Given the description of an element on the screen output the (x, y) to click on. 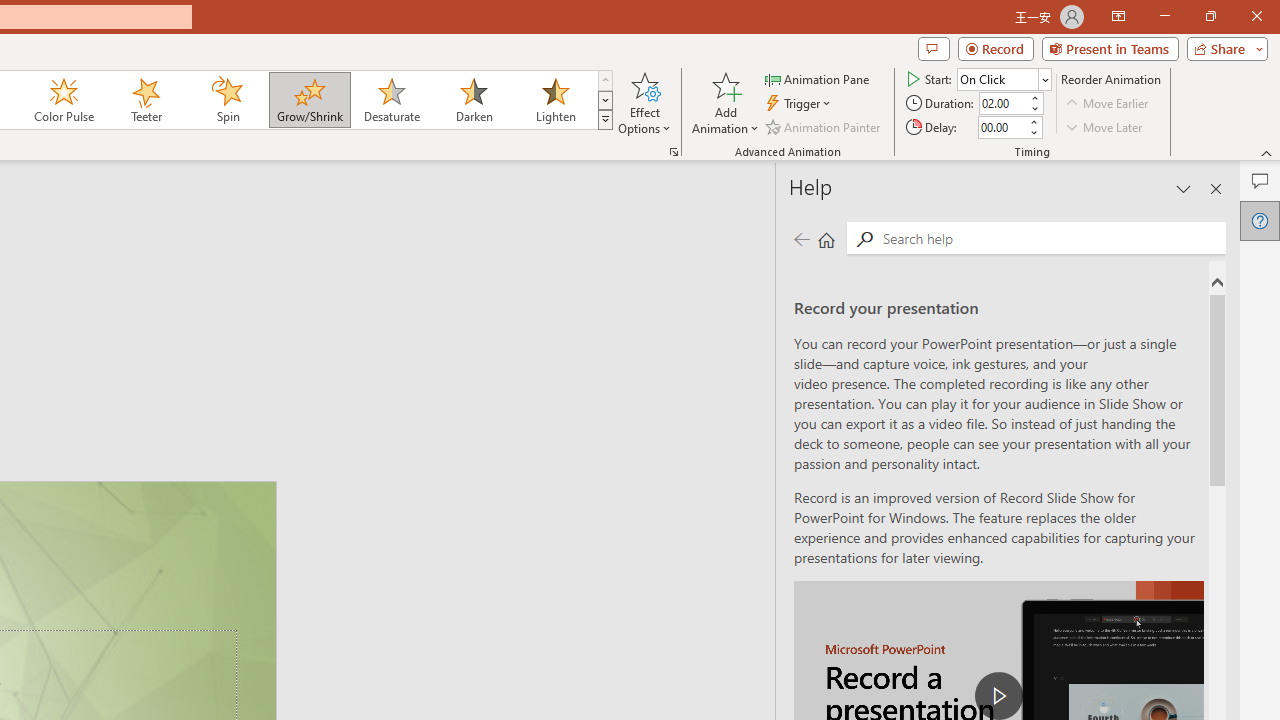
More Options... (673, 151)
Effect Options (644, 102)
Darken (473, 100)
Animation Styles (605, 120)
Grow/Shrink (309, 100)
Previous page (801, 238)
Trigger (799, 103)
play Record a Presentation (998, 695)
Animation Pane (818, 78)
Teeter (145, 100)
